Given the description of an element on the screen output the (x, y) to click on. 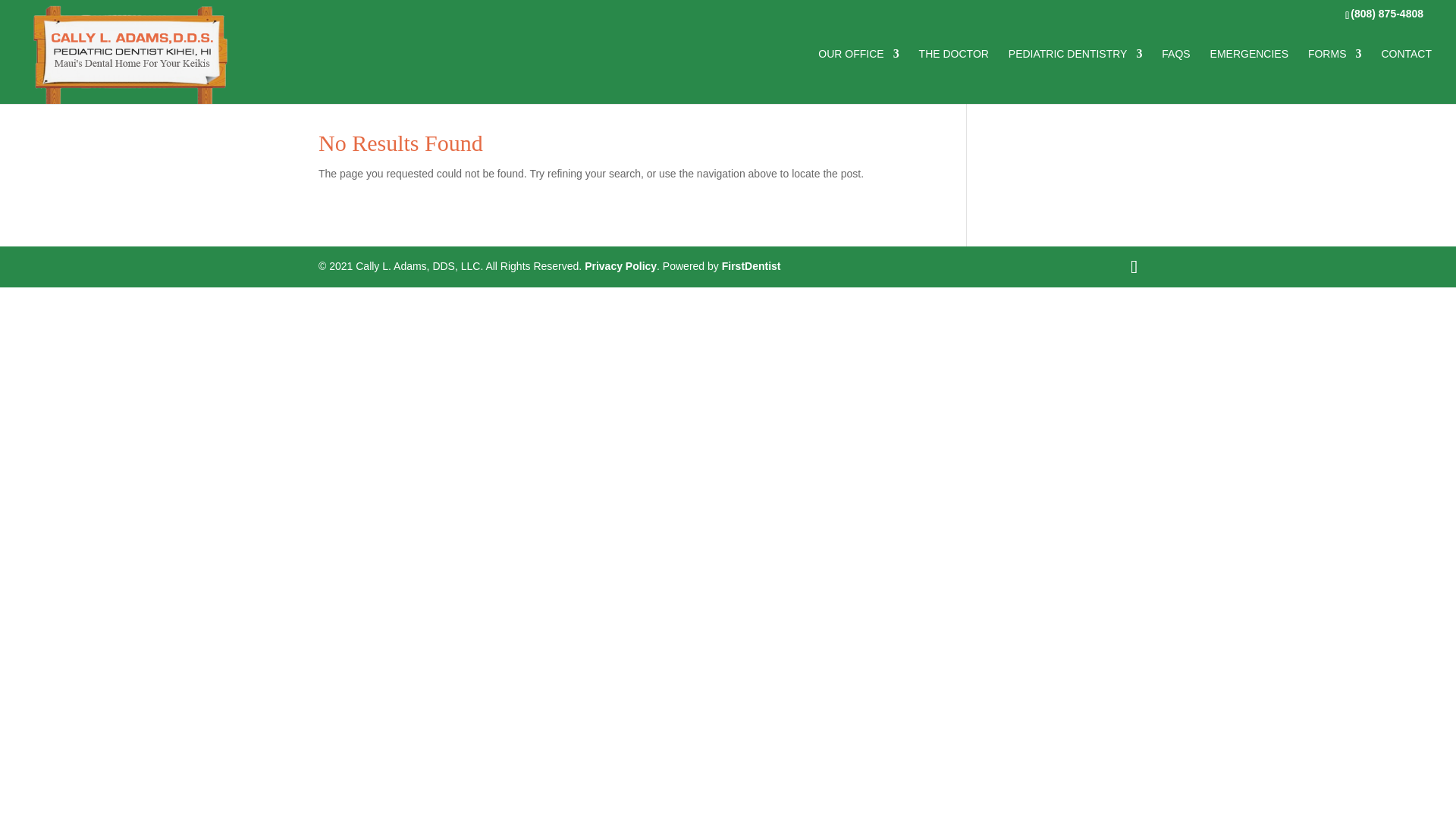
THE DOCTOR (953, 76)
CONTACT (1405, 76)
OUR OFFICE (858, 76)
FORMS (1334, 76)
PEDIATRIC DENTISTRY (1075, 76)
EMERGENCIES (1248, 76)
